Given the description of an element on the screen output the (x, y) to click on. 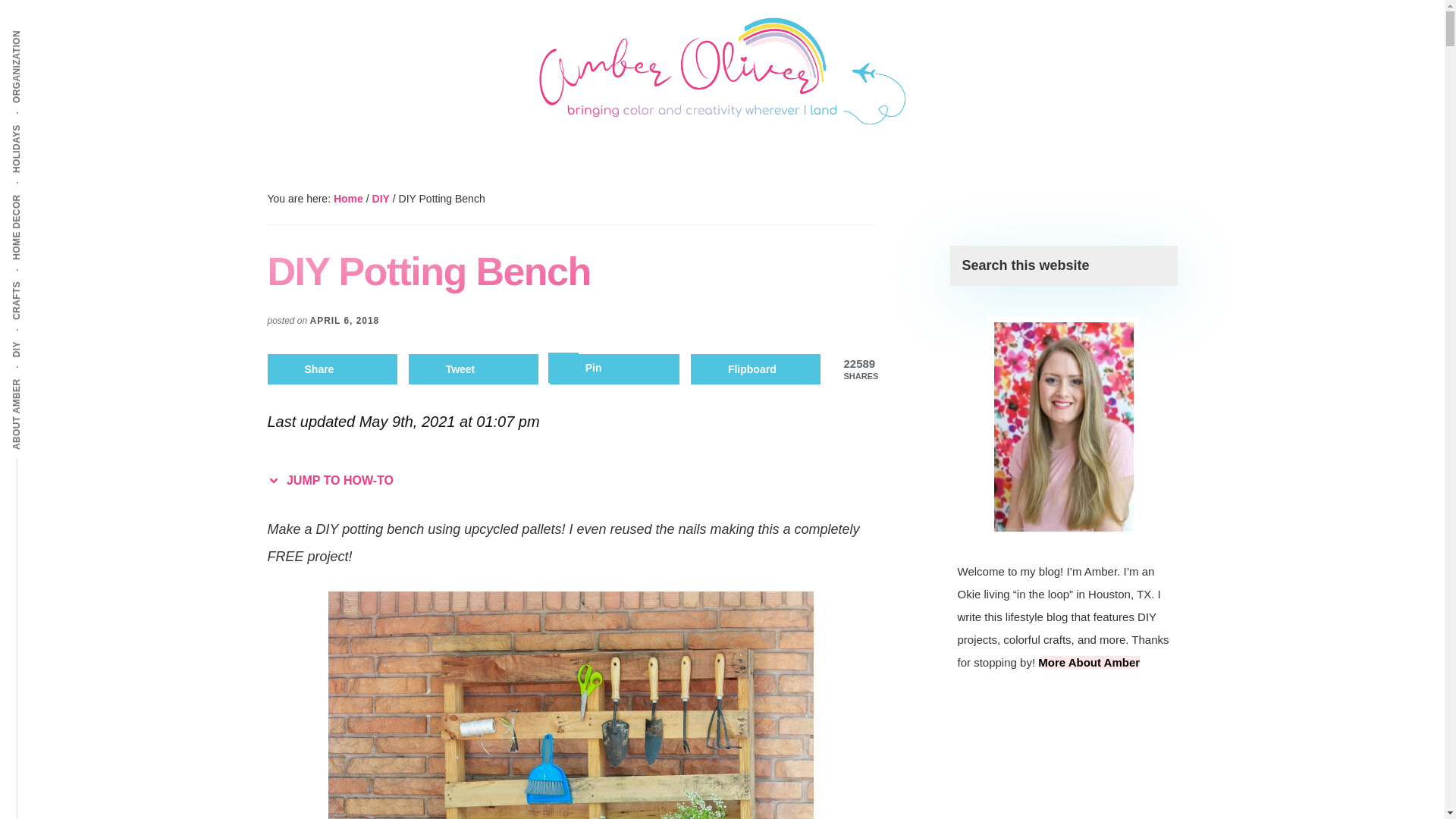
CRAFTS (36, 279)
Save to Pinterest (614, 368)
Share on Flipboard (755, 368)
Share on Facebook (331, 368)
ABOUT AMBER (53, 377)
HOME DECOR (50, 192)
ORGANIZATION (54, 28)
Flipboard (755, 368)
Tweet (473, 368)
Pin (614, 368)
HOLIDAYS (41, 123)
Home (347, 198)
